Given the description of an element on the screen output the (x, y) to click on. 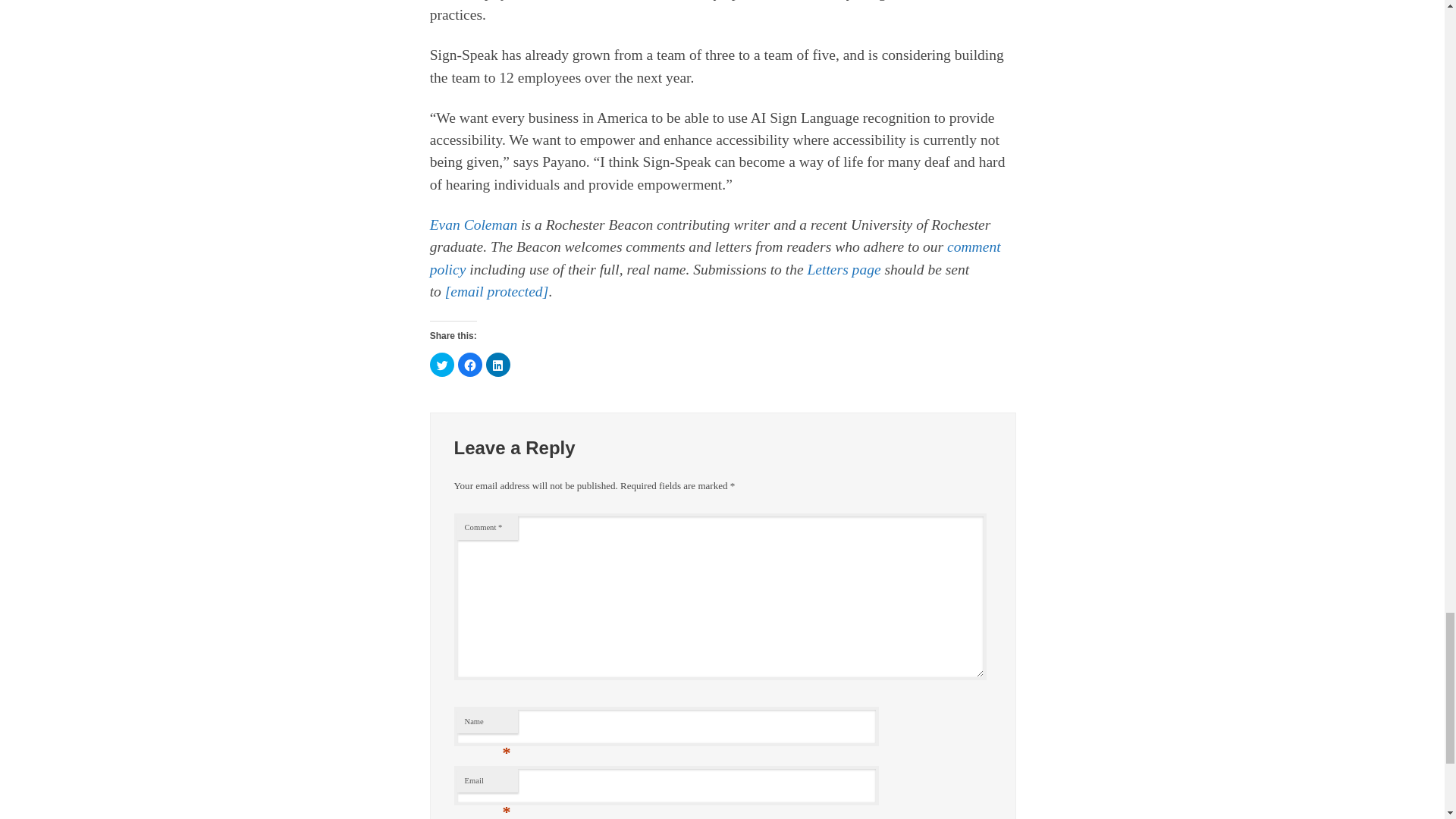
Click to share on Twitter (441, 364)
Click to share on LinkedIn (498, 364)
Click to share on Facebook (469, 364)
